Given the description of an element on the screen output the (x, y) to click on. 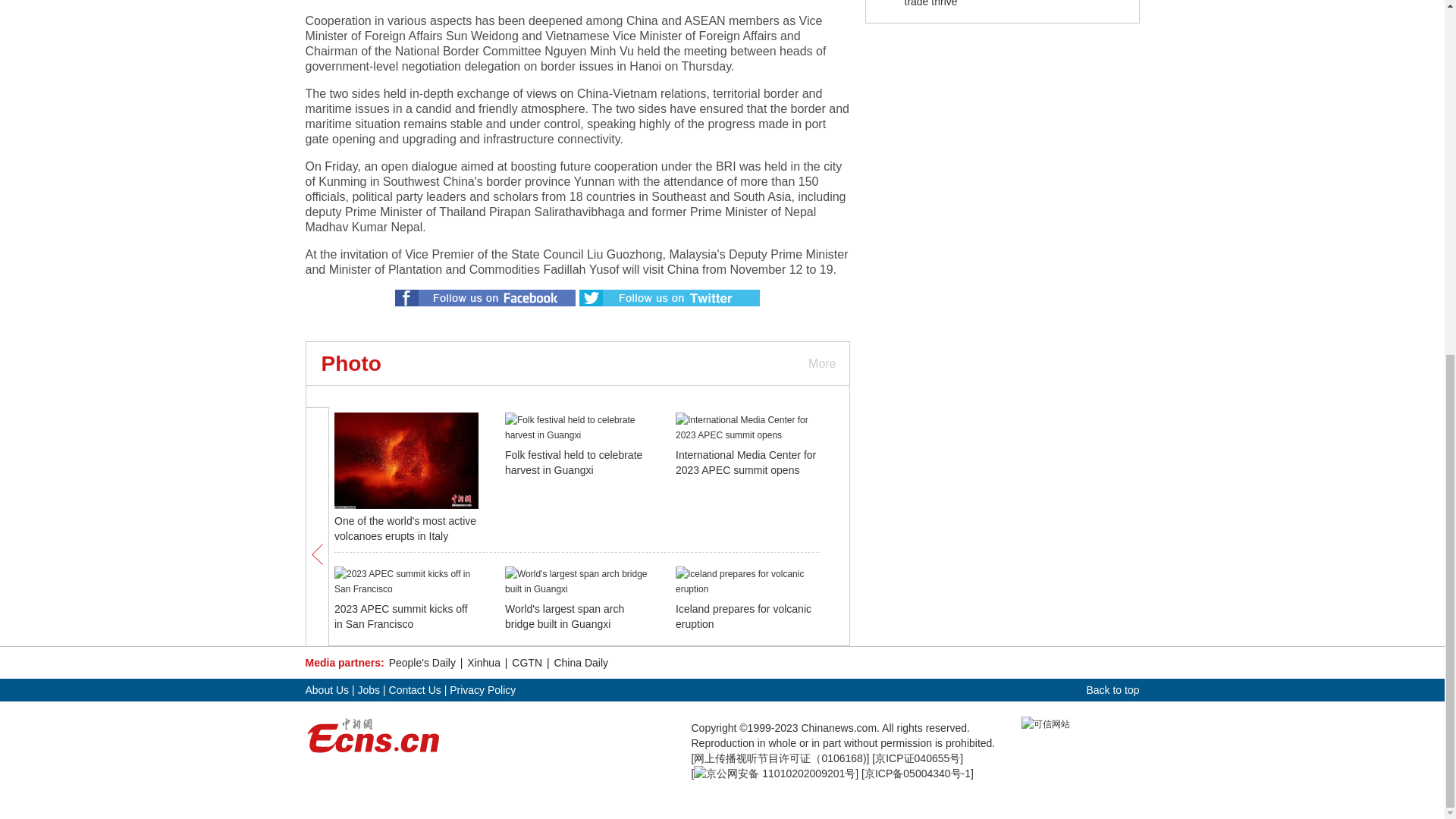
World's largest span arch bridge built in Guangxi (564, 615)
Iceland prepares for volcanic eruption (742, 615)
International Media Center for 2023 APEC summit opens (745, 461)
2023 APEC summit kicks off in San Francisco (400, 615)
One of the world's most active volcanoes erupts in Italy (405, 528)
Folk festival held to celebrate harvest in Guangxi (573, 461)
